Given the description of an element on the screen output the (x, y) to click on. 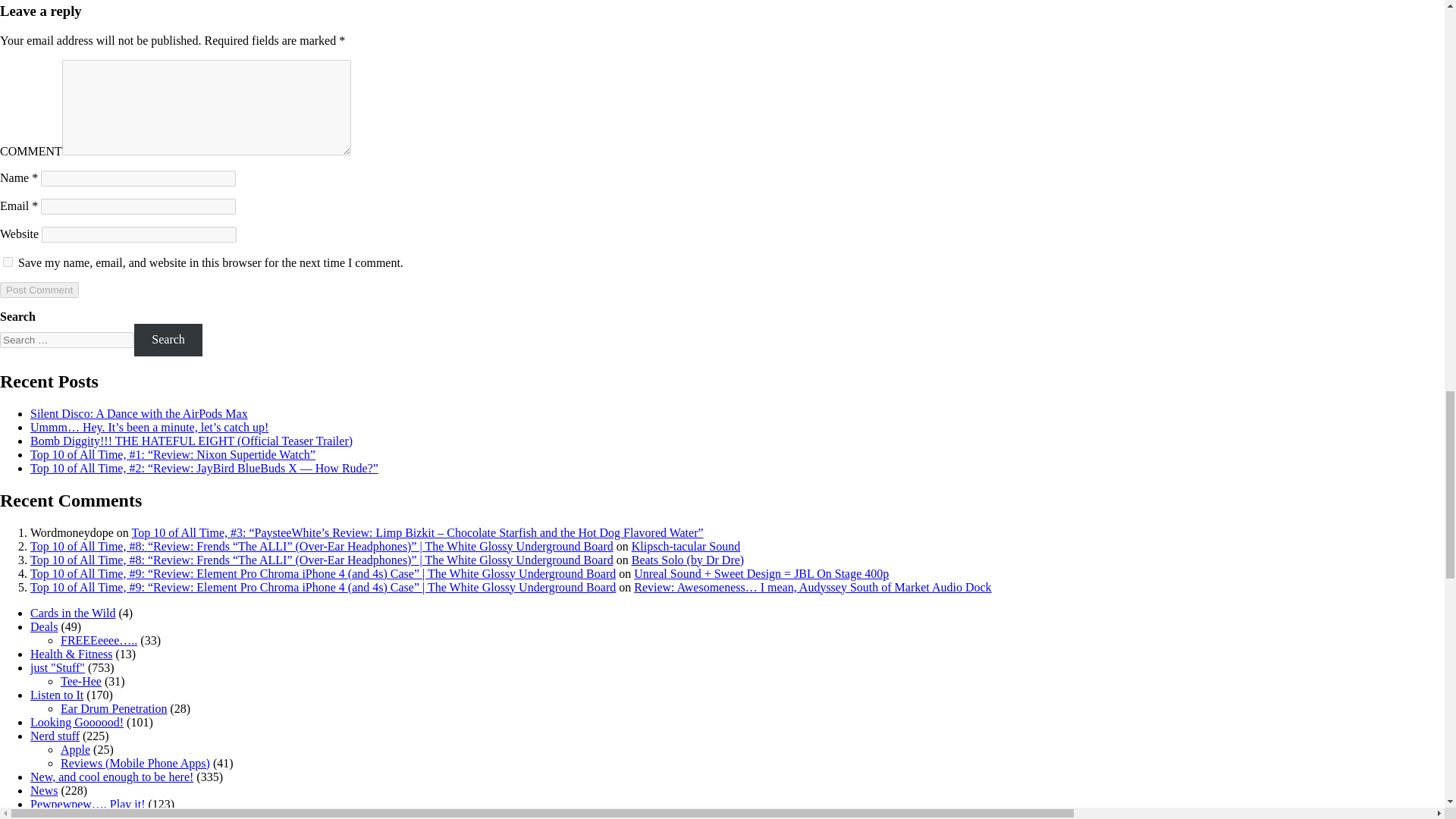
yes (7, 261)
Post Comment (39, 289)
